Given the description of an element on the screen output the (x, y) to click on. 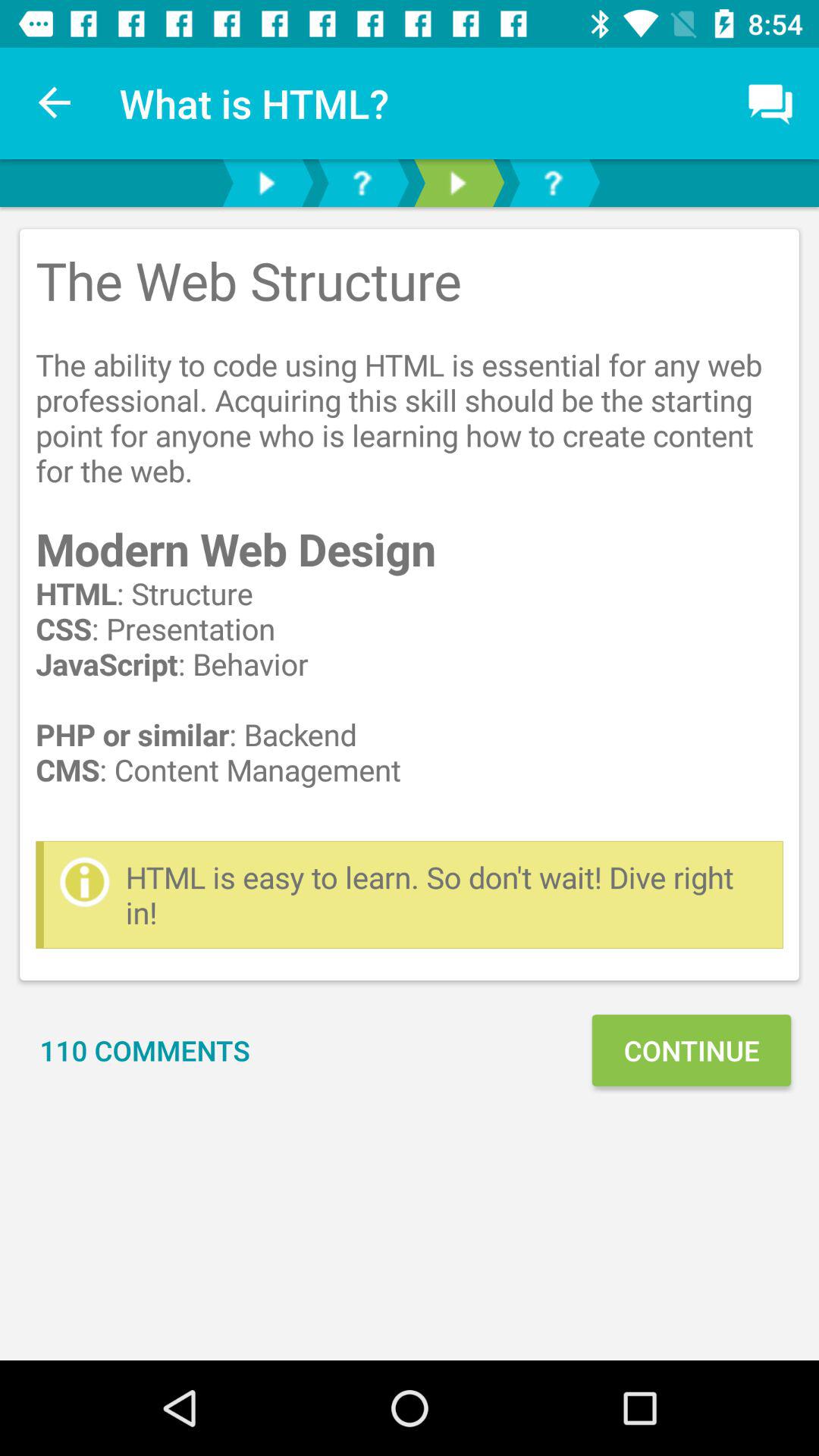
turn off the web structure item (409, 535)
